Given the description of an element on the screen output the (x, y) to click on. 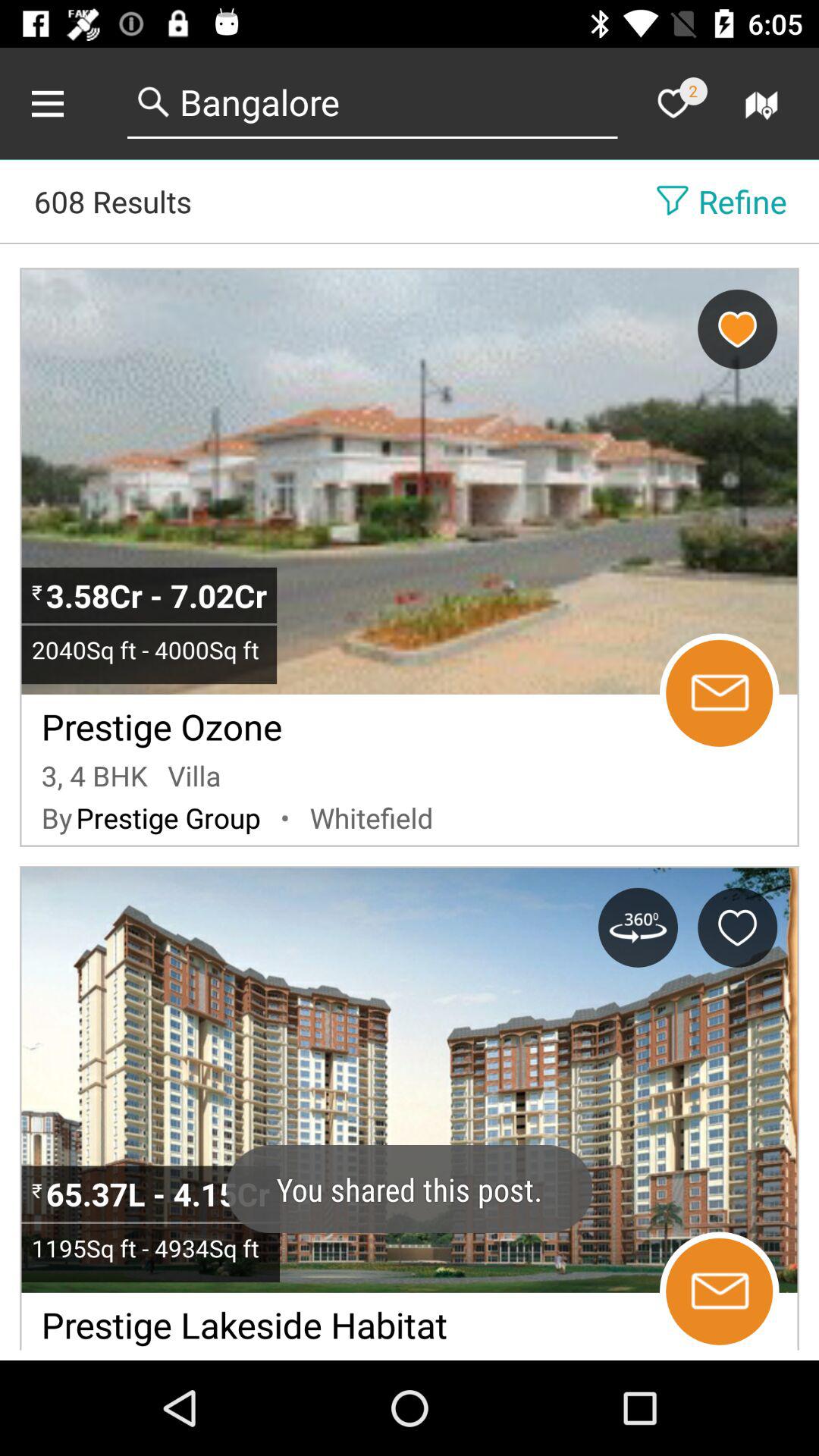
launch the by icon (56, 817)
